Given the description of an element on the screen output the (x, y) to click on. 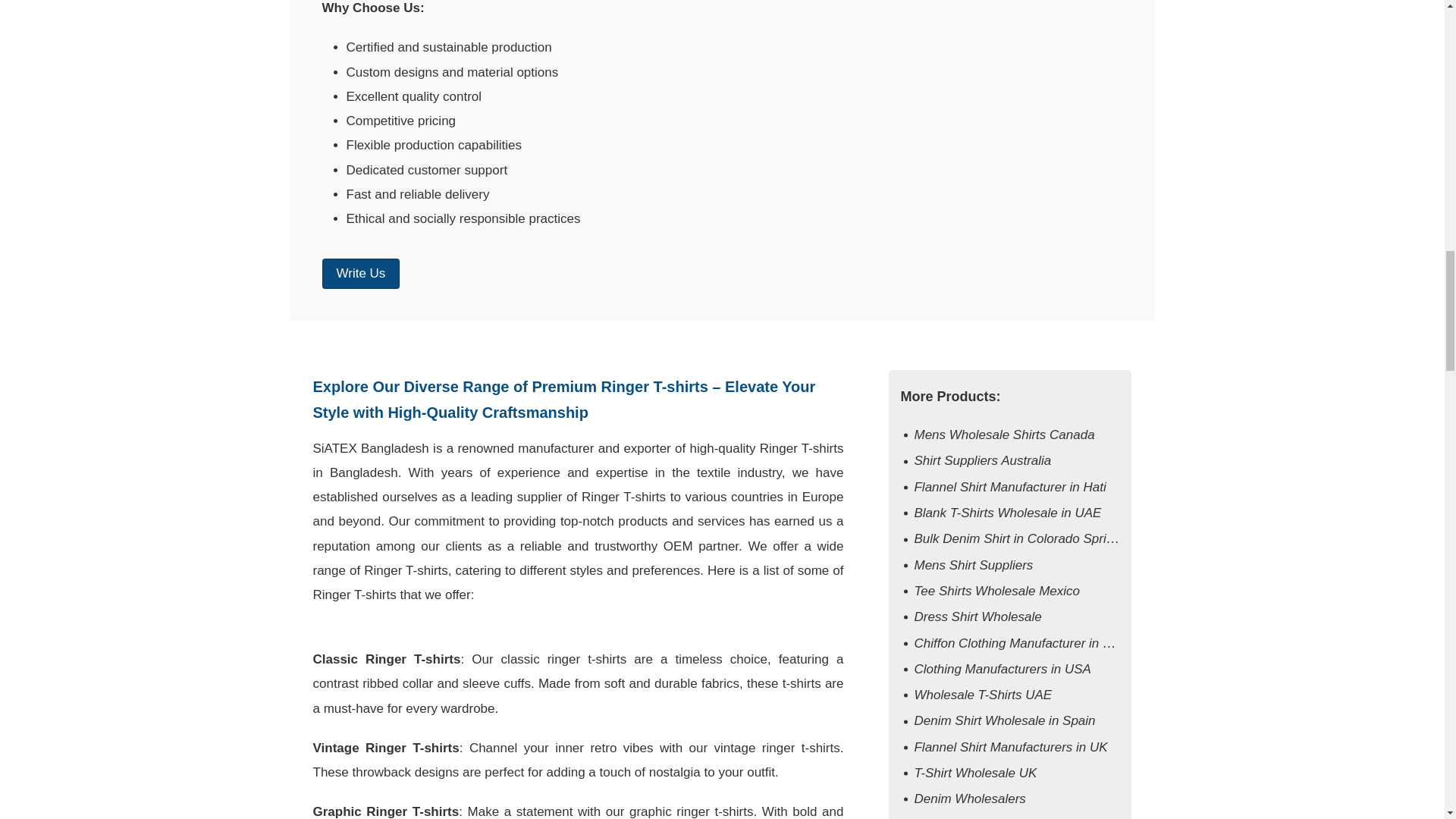
Denim Wholesalers (969, 798)
Chiffon Clothing Manufacturer in Capannori (1037, 642)
 Chiffon Clothing Manufacturer in Capannori (1037, 642)
Wholesale T-Shirts UAE (982, 694)
 Denim Shirt Wholesale in Spain (1004, 720)
 Mens Wholesale Shirts Canada (1004, 434)
Mens Shirt Suppliers (973, 564)
 Mens Shirt Suppliers (973, 564)
Tee Shirts Wholesale Mexico (997, 590)
 Flannel Shirt Manufacturers in UK (1010, 747)
 Tee Shirts Wholesale Mexico (997, 590)
Write Us (359, 273)
Mens Wholesale Shirts Canada (1004, 434)
 Wholesale T Shirts UAE (982, 694)
Flannel Shirt Manufacturers in UK (1010, 747)
